Given the description of an element on the screen output the (x, y) to click on. 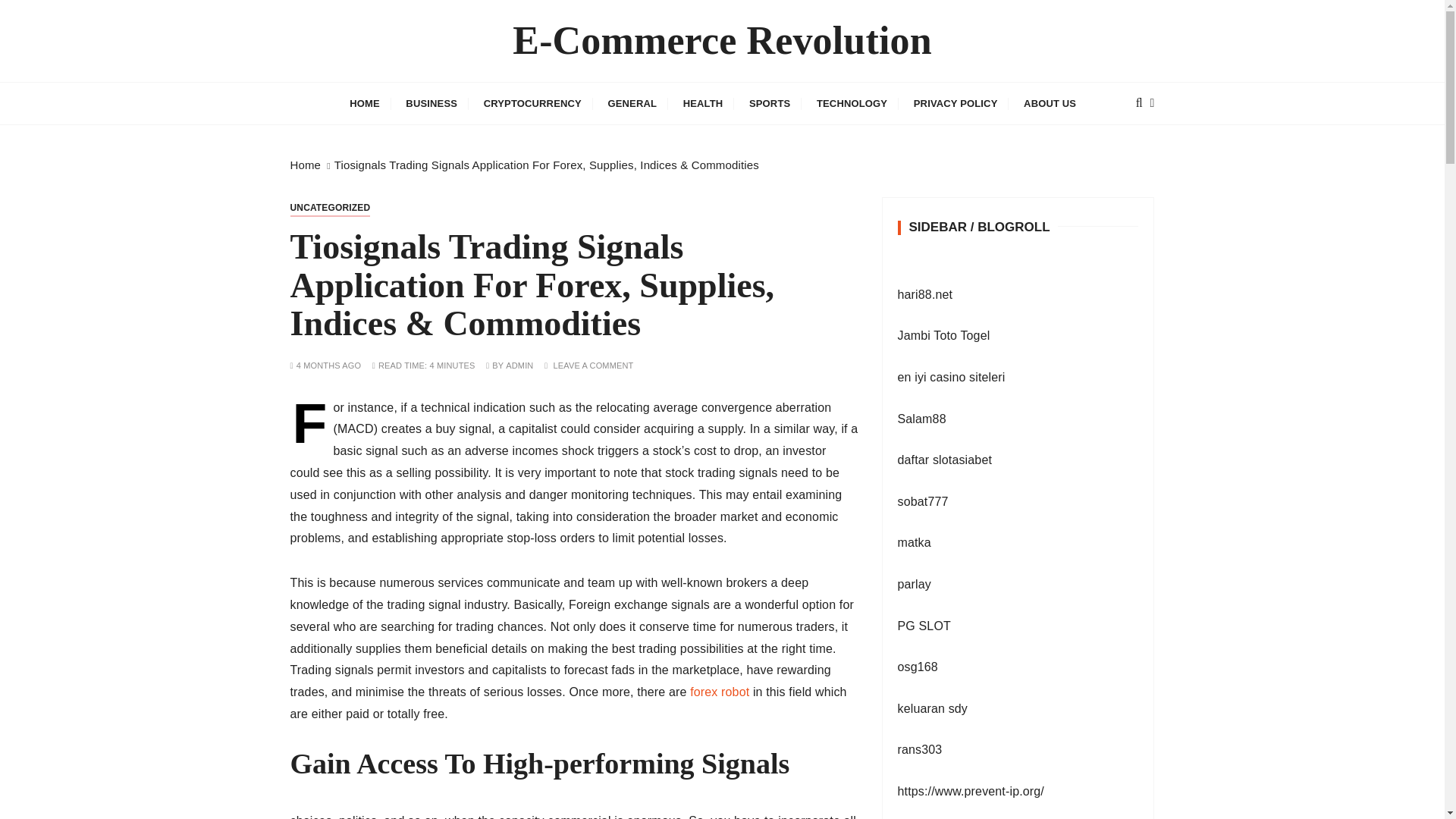
PRIVACY POLICY (955, 103)
ADMIN (518, 365)
daftar slotasiabet (945, 459)
BUSINESS (431, 103)
sobat777 (923, 501)
TECHNOLOGY (851, 103)
en iyi casino siteleri (952, 377)
HOME (364, 103)
E-Commerce Revolution (721, 40)
Salam88 (922, 418)
parlay (914, 584)
keluaran sdy (933, 707)
LEAVE A COMMENT (593, 365)
GENERAL (631, 103)
hari88.net (925, 294)
